Given the description of an element on the screen output the (x, y) to click on. 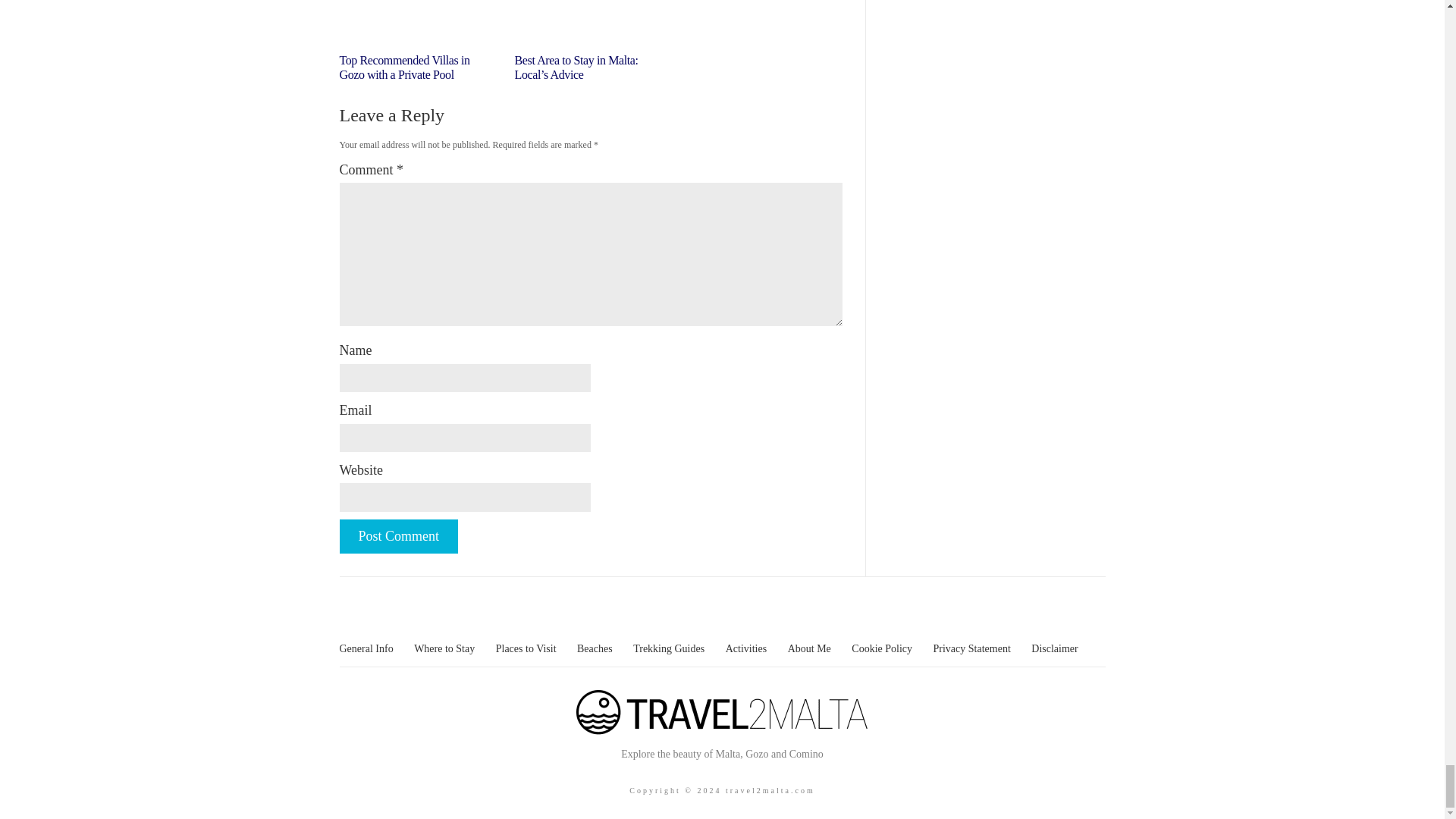
Post Comment (398, 536)
